Given the description of an element on the screen output the (x, y) to click on. 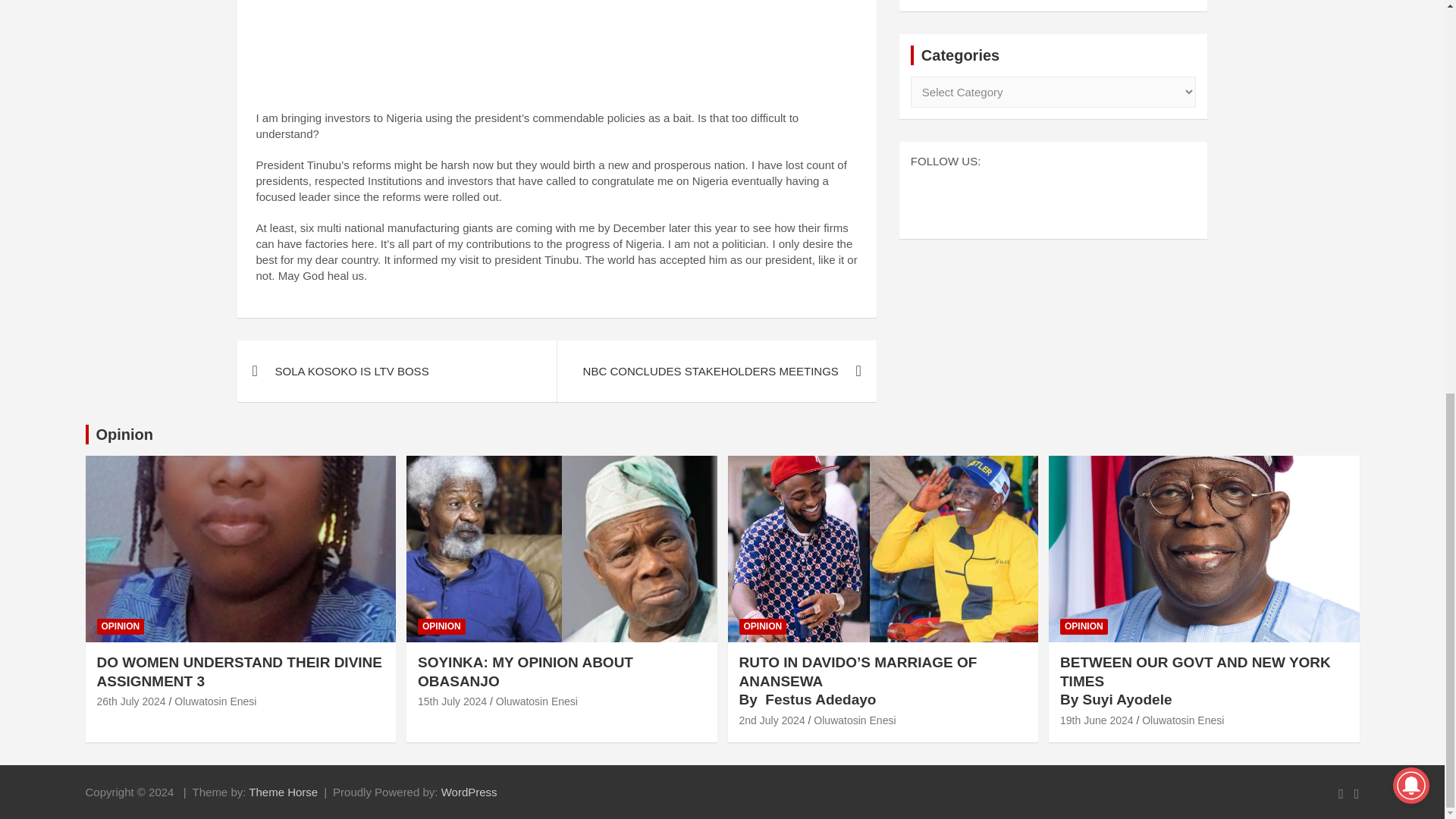
SOYINKA: MY OPINION ABOUT OBASANJO (451, 701)
NBC CONCLUDES STAKEHOLDERS MEETINGS (716, 371)
Theme Horse (282, 791)
LinkedIn (1090, 198)
SOLA KOSOKO IS LTV BOSS (395, 371)
Twitter (1054, 198)
Facebook (1016, 198)
Advertisement (556, 52)
BETWEEN OUR GOVT AND NEW YORK TIMES  By Suyi Ayodele (1096, 720)
DO WOMEN UNDERSTAND THEIR DIVINE ASSIGNMENT 3 (131, 701)
WordPress (469, 791)
